Given the description of an element on the screen output the (x, y) to click on. 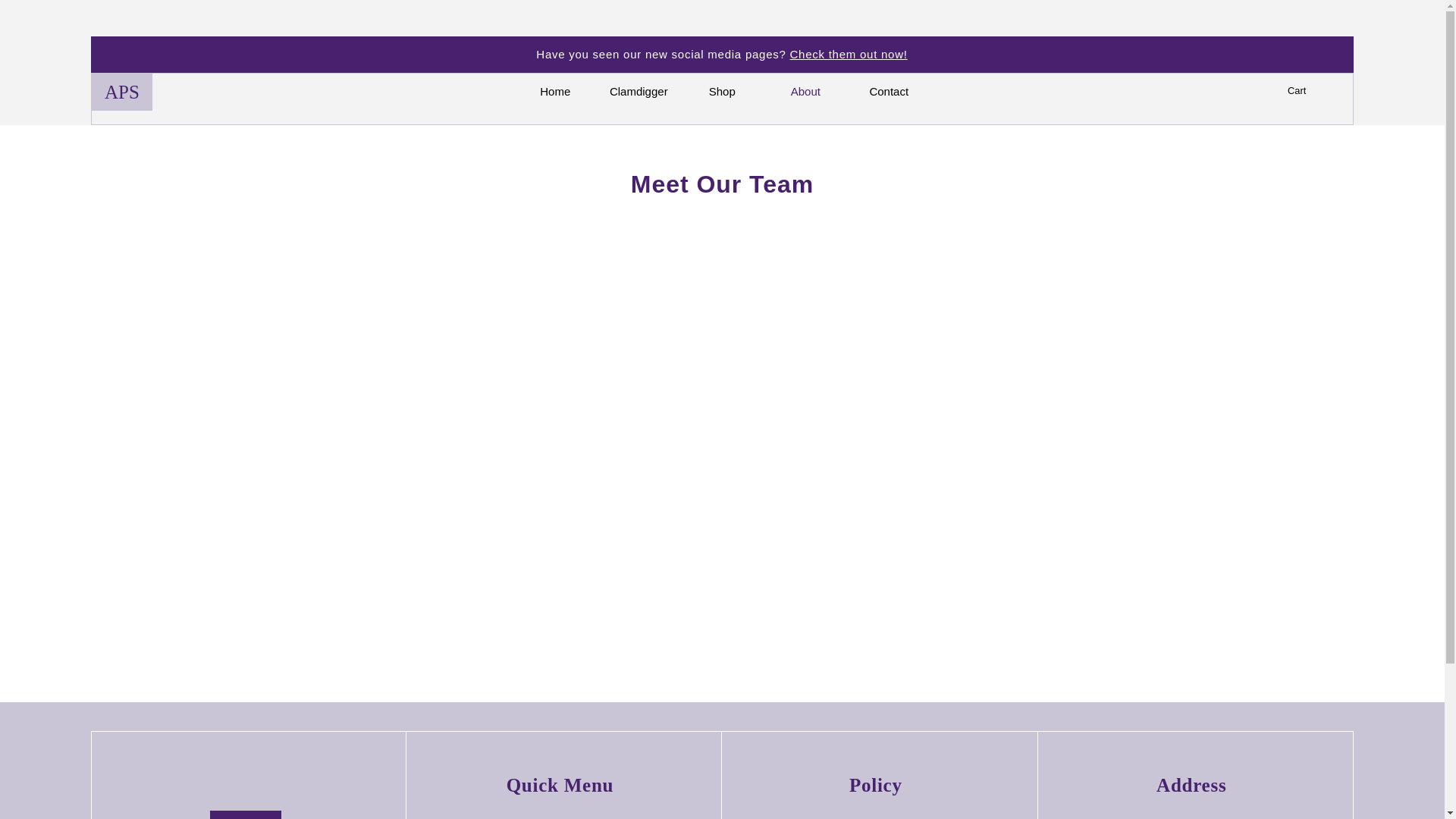
Clamdigger (637, 90)
Cart (1304, 90)
Check them out now! (848, 53)
Home (554, 90)
Contact (888, 90)
APS (121, 91)
Cart (1304, 90)
About (804, 90)
Shop (720, 90)
